Given the description of an element on the screen output the (x, y) to click on. 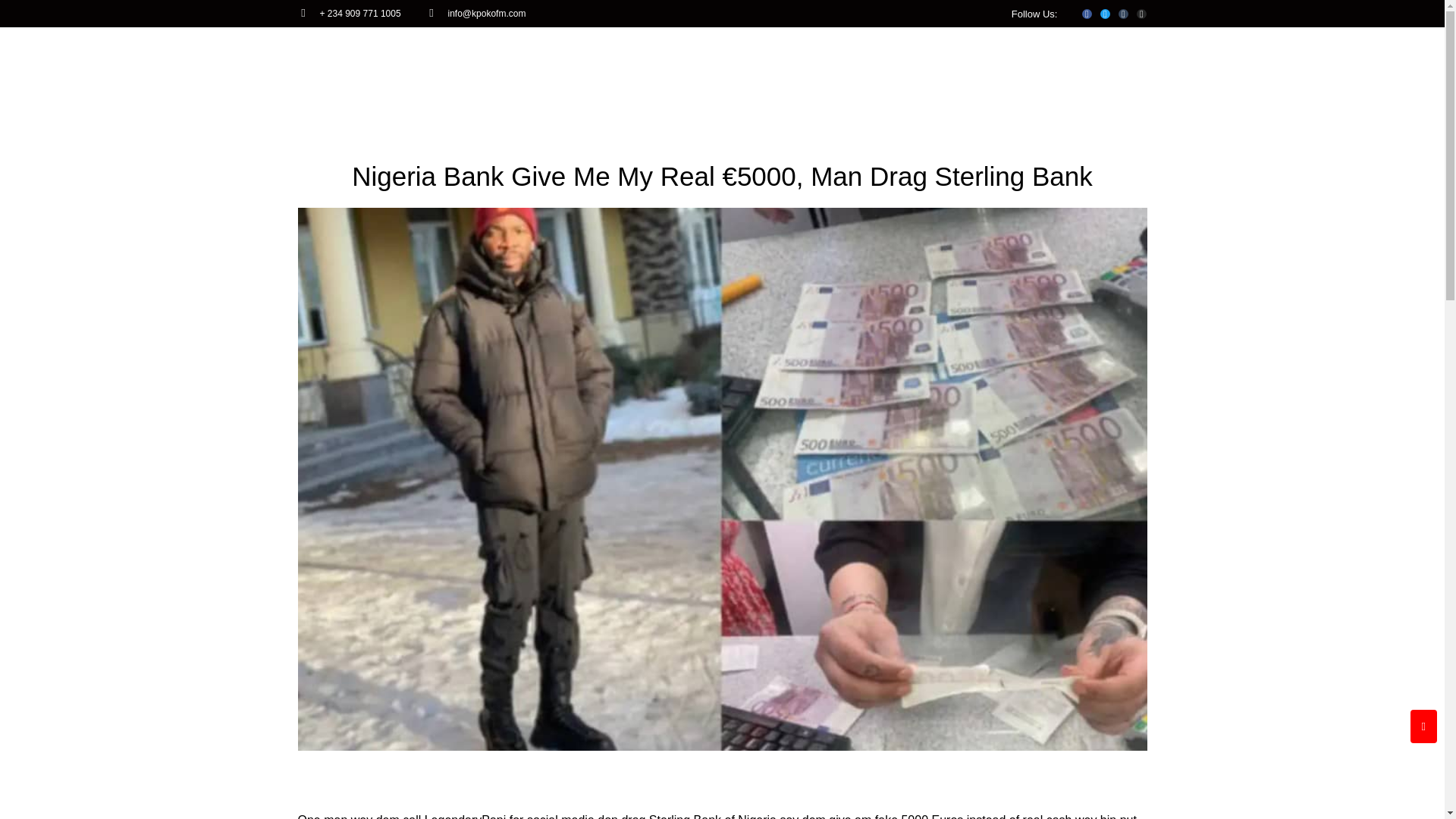
OAPs (657, 52)
Management (815, 52)
Contact Us (917, 52)
Listen Live (1009, 52)
